Given the description of an element on the screen output the (x, y) to click on. 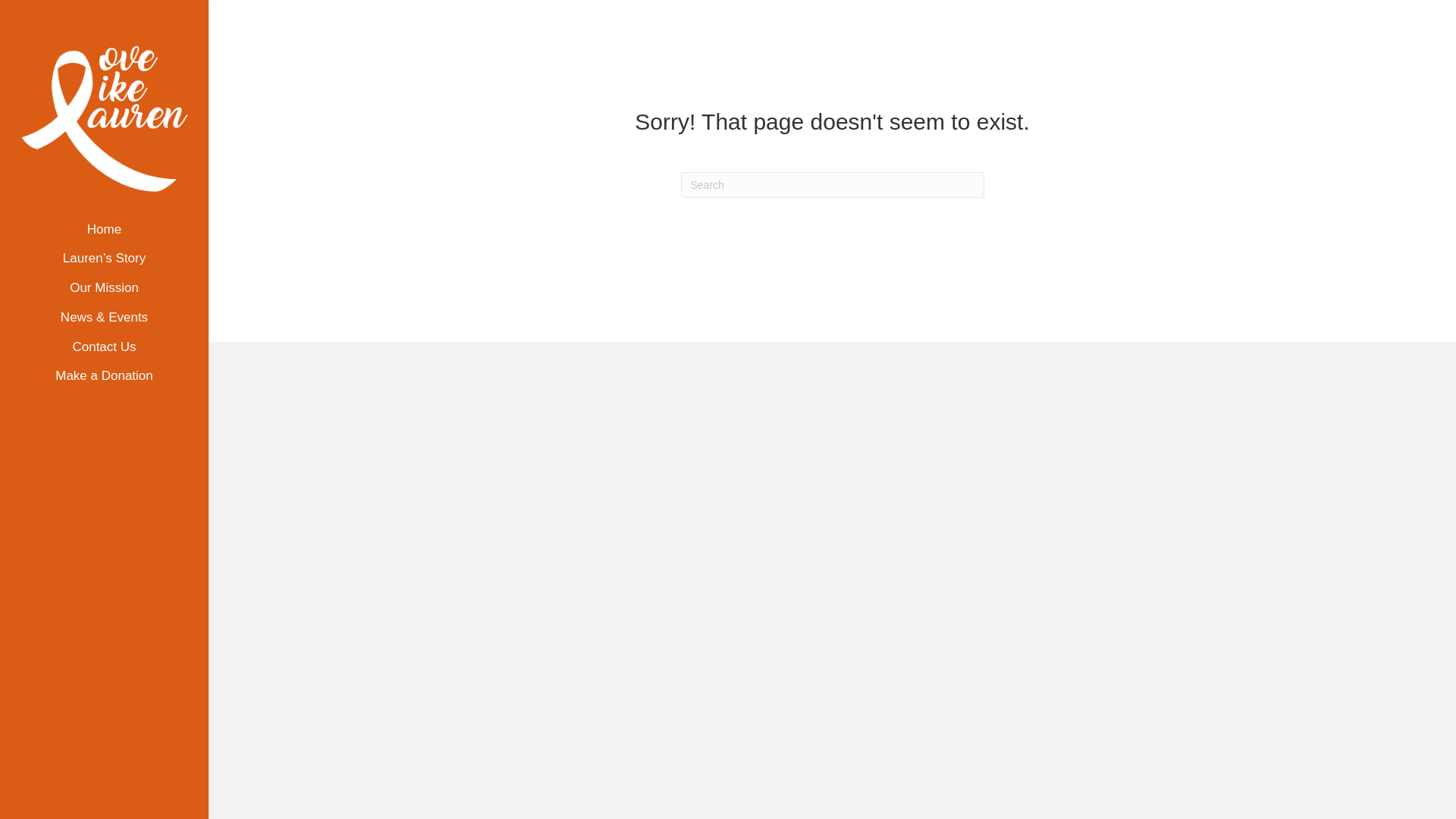
Type and press Enter to search. (832, 184)
Our Mission (104, 293)
Home (104, 234)
